Given the description of an element on the screen output the (x, y) to click on. 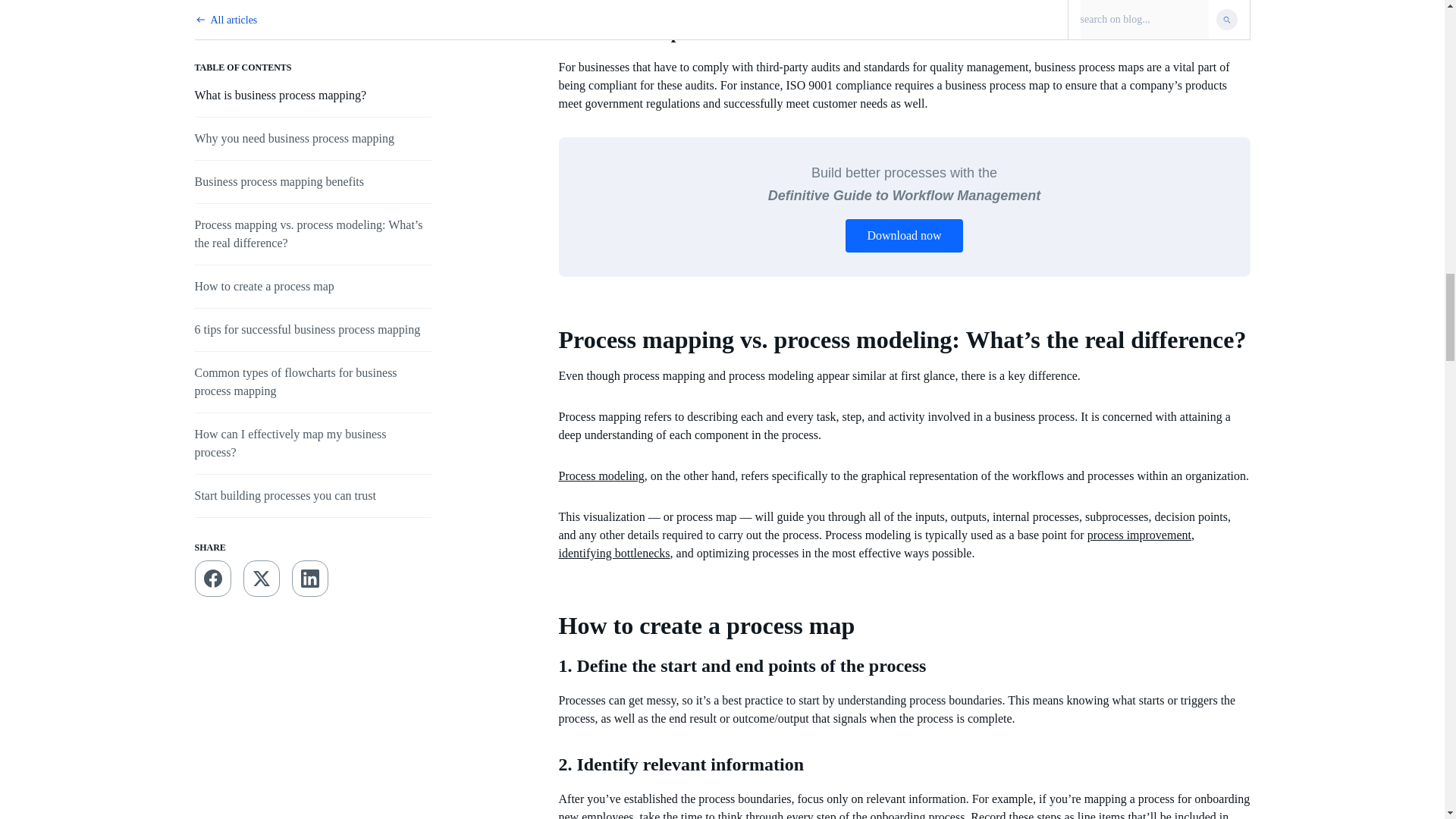
identifying bottlenecks (613, 553)
Process modeling (600, 475)
process improvement (1139, 534)
Download now (903, 235)
